Given the description of an element on the screen output the (x, y) to click on. 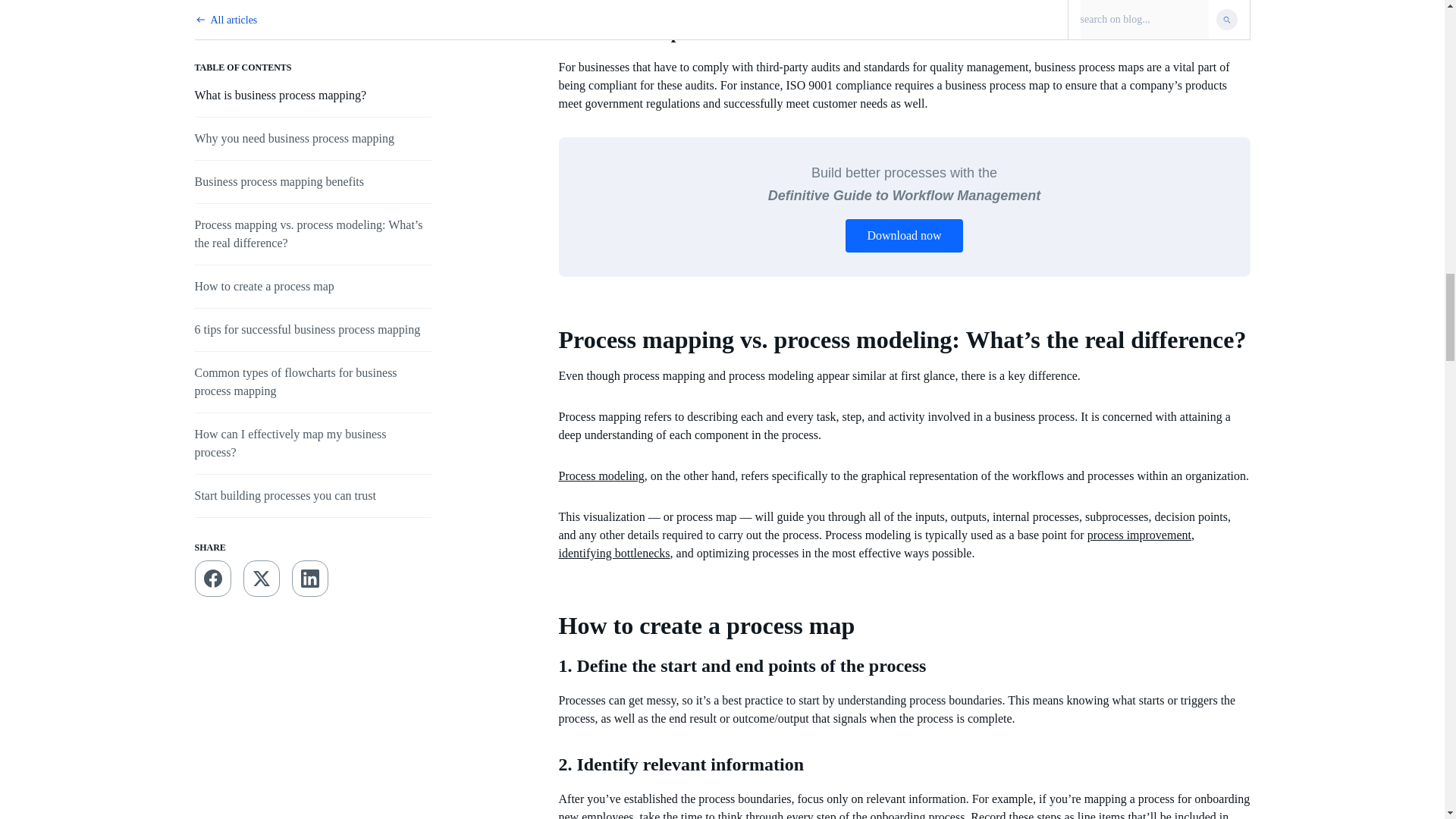
identifying bottlenecks (613, 553)
Process modeling (600, 475)
process improvement (1139, 534)
Download now (903, 235)
